Given the description of an element on the screen output the (x, y) to click on. 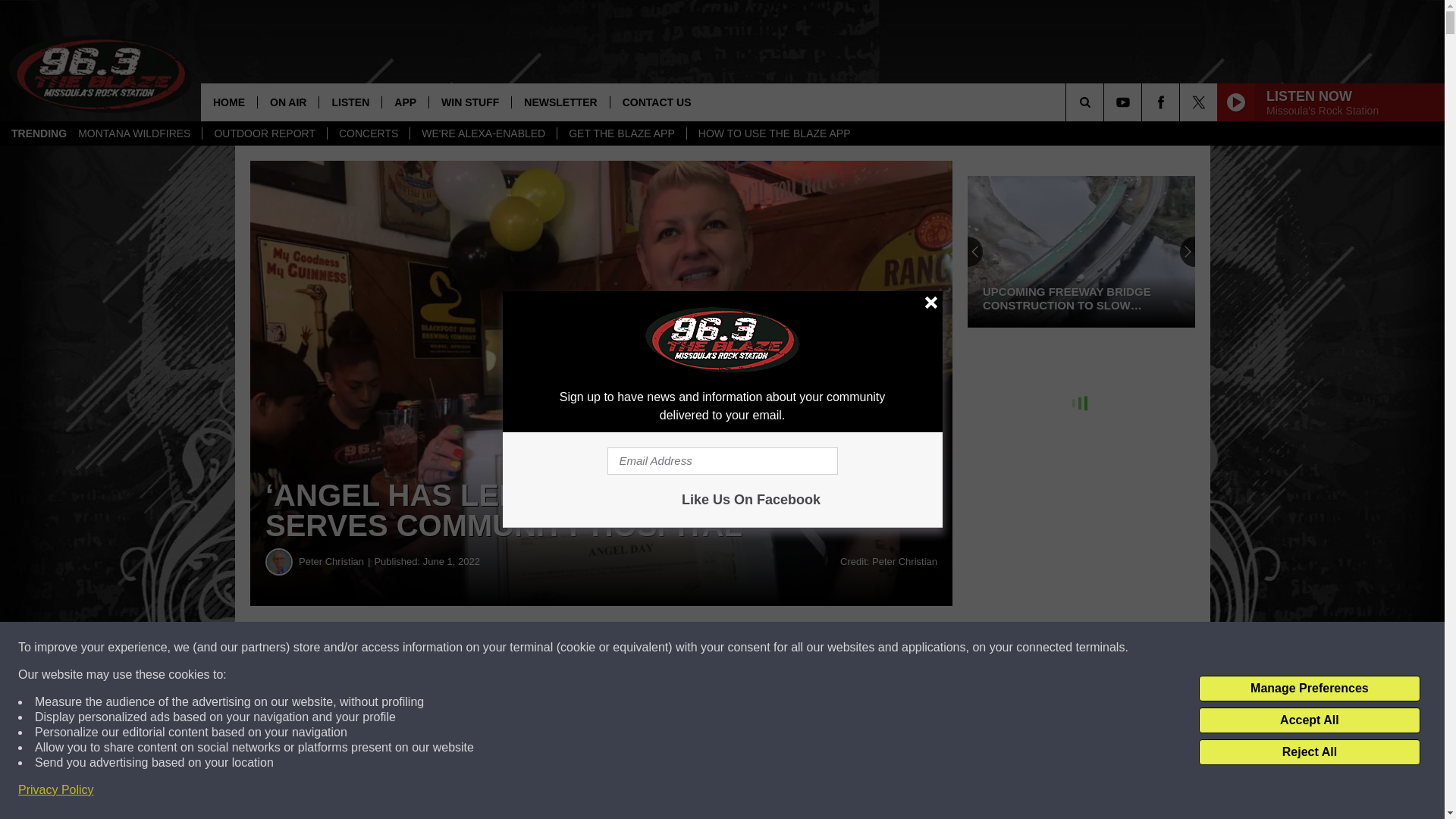
MONTANA WILDFIRES (134, 133)
SEARCH (1106, 102)
APP (404, 102)
CONTACT US (656, 102)
HOME (228, 102)
GET THE BLAZE APP (620, 133)
HOW TO USE THE BLAZE APP (773, 133)
Reject All (1309, 751)
OUTDOOR REPORT (264, 133)
CONCERTS (367, 133)
LISTEN (349, 102)
NEWSLETTER (559, 102)
SEARCH (1106, 102)
Share on Facebook (460, 647)
WIN STUFF (469, 102)
